Given the description of an element on the screen output the (x, y) to click on. 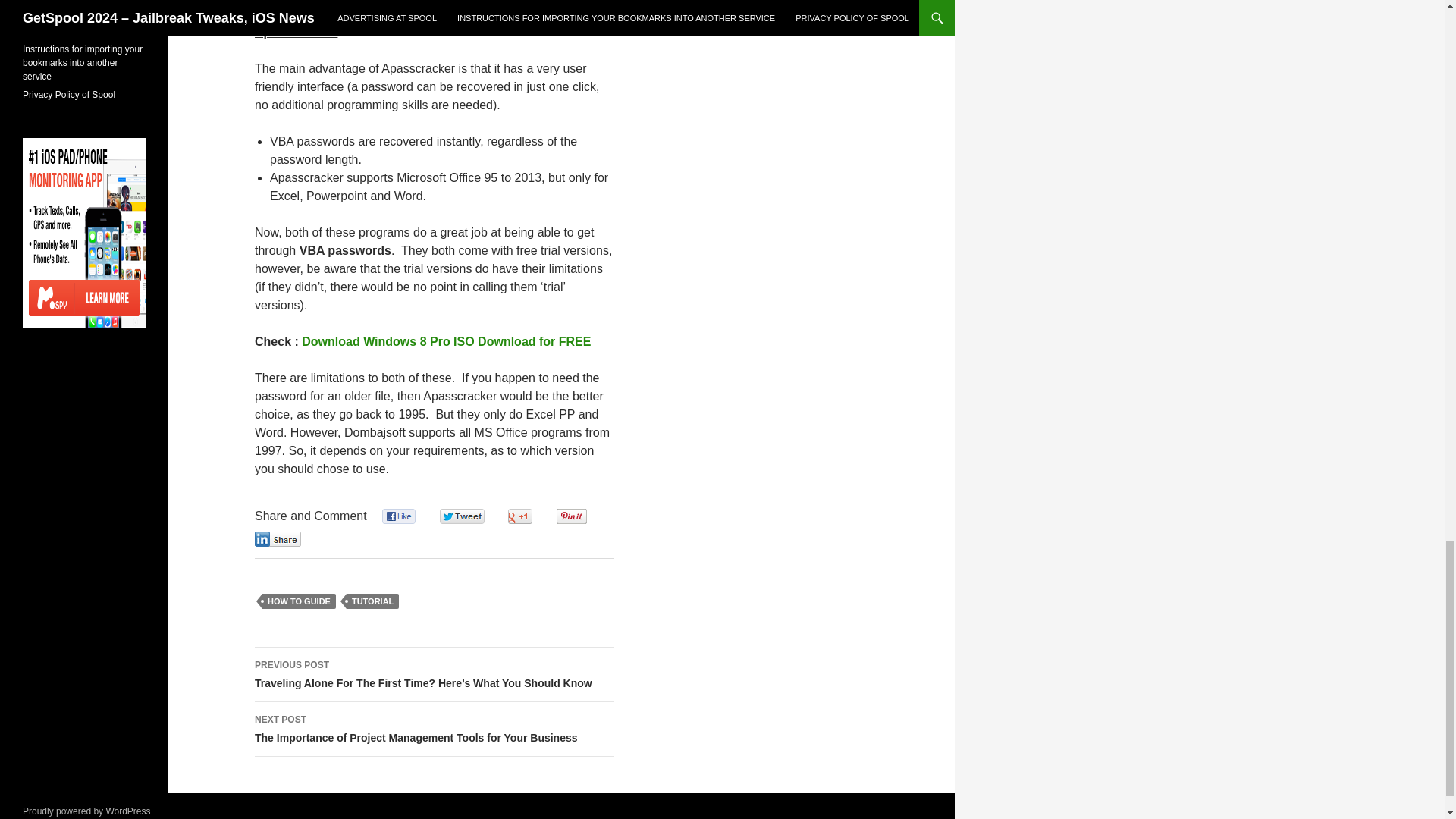
Be the first one to tweet this article! (478, 516)
TUTORIAL (372, 601)
HOW TO GUIDE (299, 601)
Download Windows 8 Pro ISO Download for FREE (446, 341)
www.apasscracker.com (422, 1)
